Given the description of an element on the screen output the (x, y) to click on. 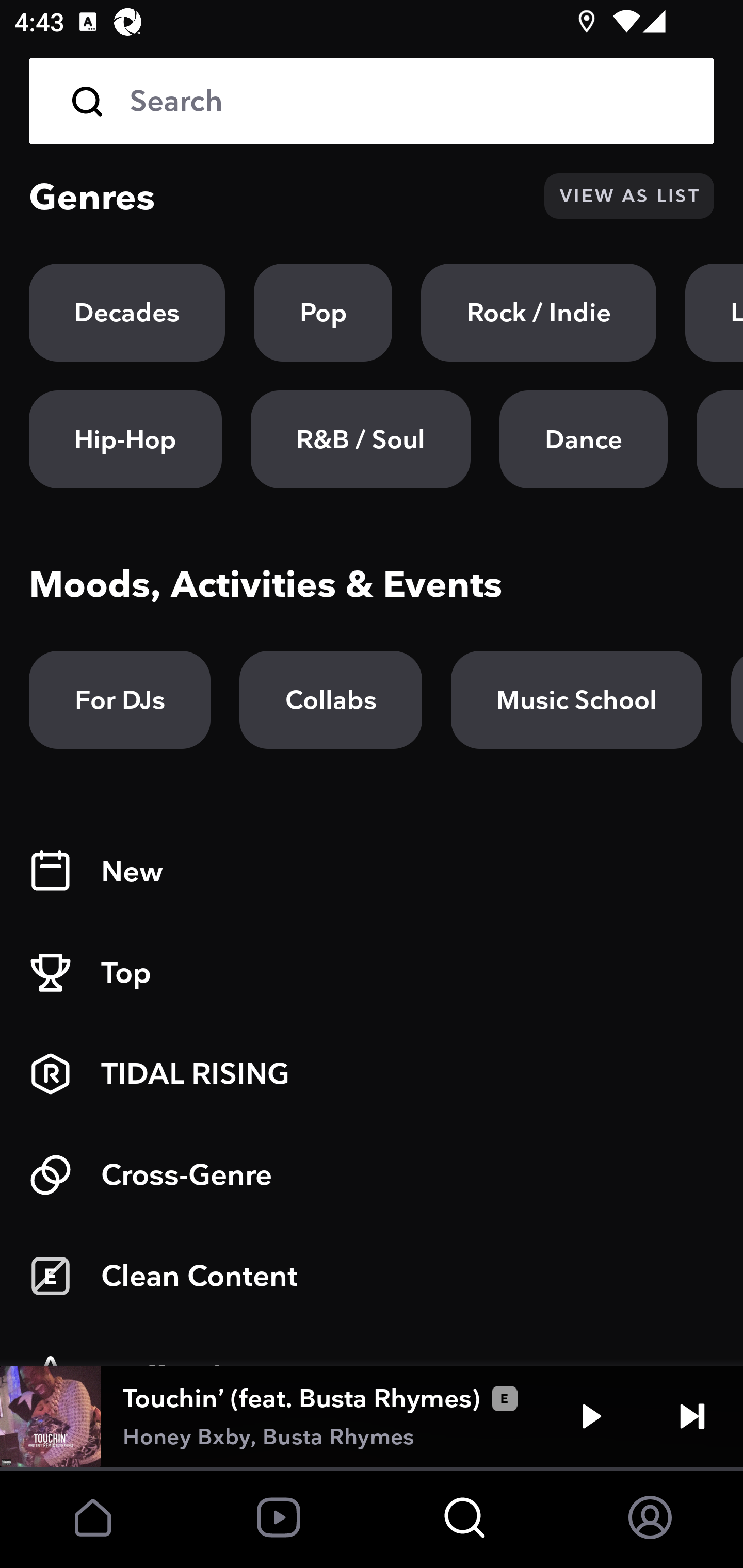
Search (371, 101)
Search (407, 100)
VIEW AS LIST (629, 195)
Decades (126, 312)
Pop (323, 312)
Rock / Indie (538, 312)
Hip-Hop (125, 439)
R&B / Soul (360, 439)
Dance (583, 439)
For DJs (119, 699)
Collabs (330, 699)
Music School (576, 699)
New (371, 871)
Top (371, 972)
TIDAL RISING (371, 1073)
Cross-Genre (371, 1175)
Clean Content (371, 1276)
Play (590, 1416)
